Given the description of an element on the screen output the (x, y) to click on. 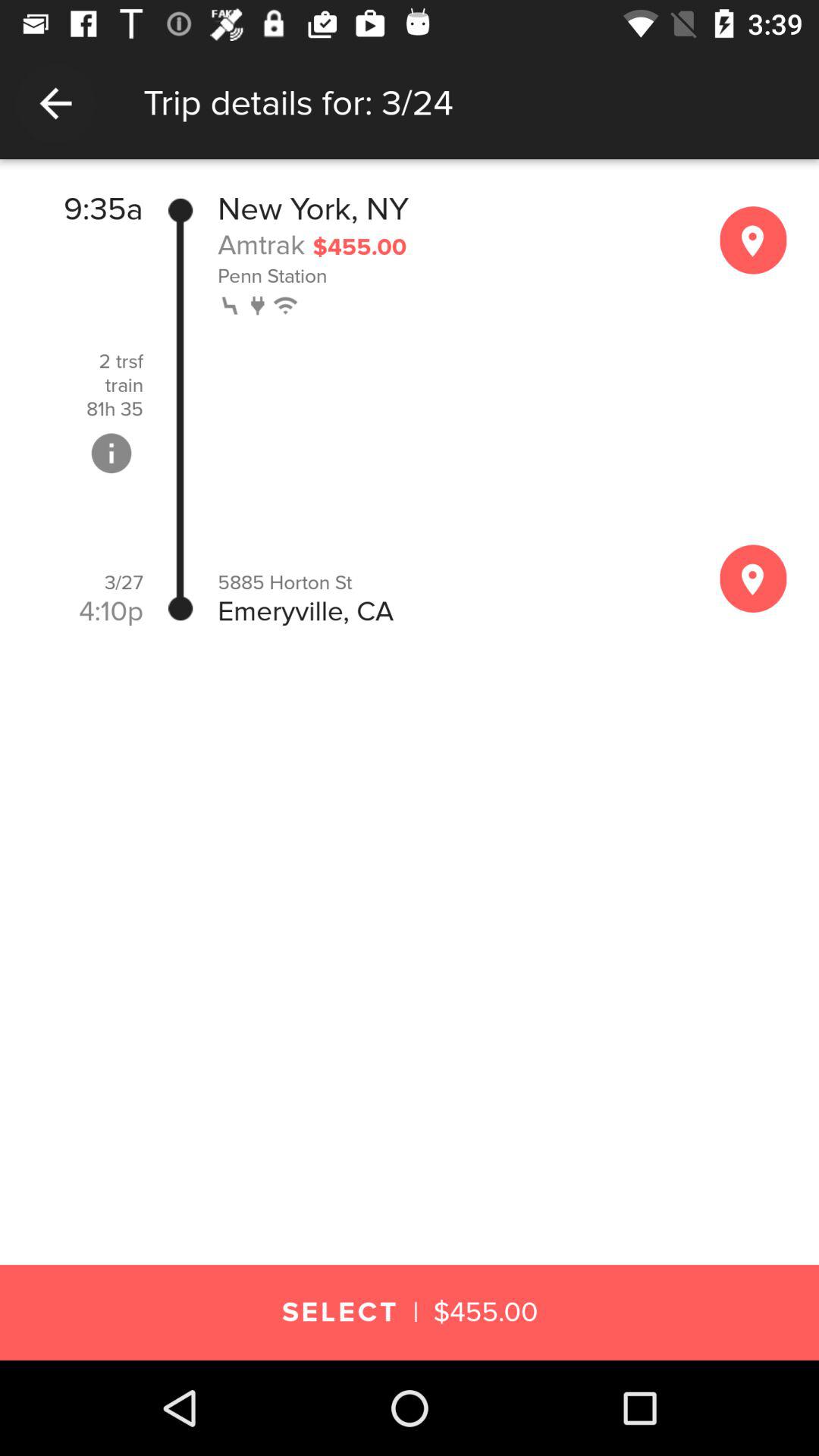
choose item above 5885 horton st (231, 303)
